Given the description of an element on the screen output the (x, y) to click on. 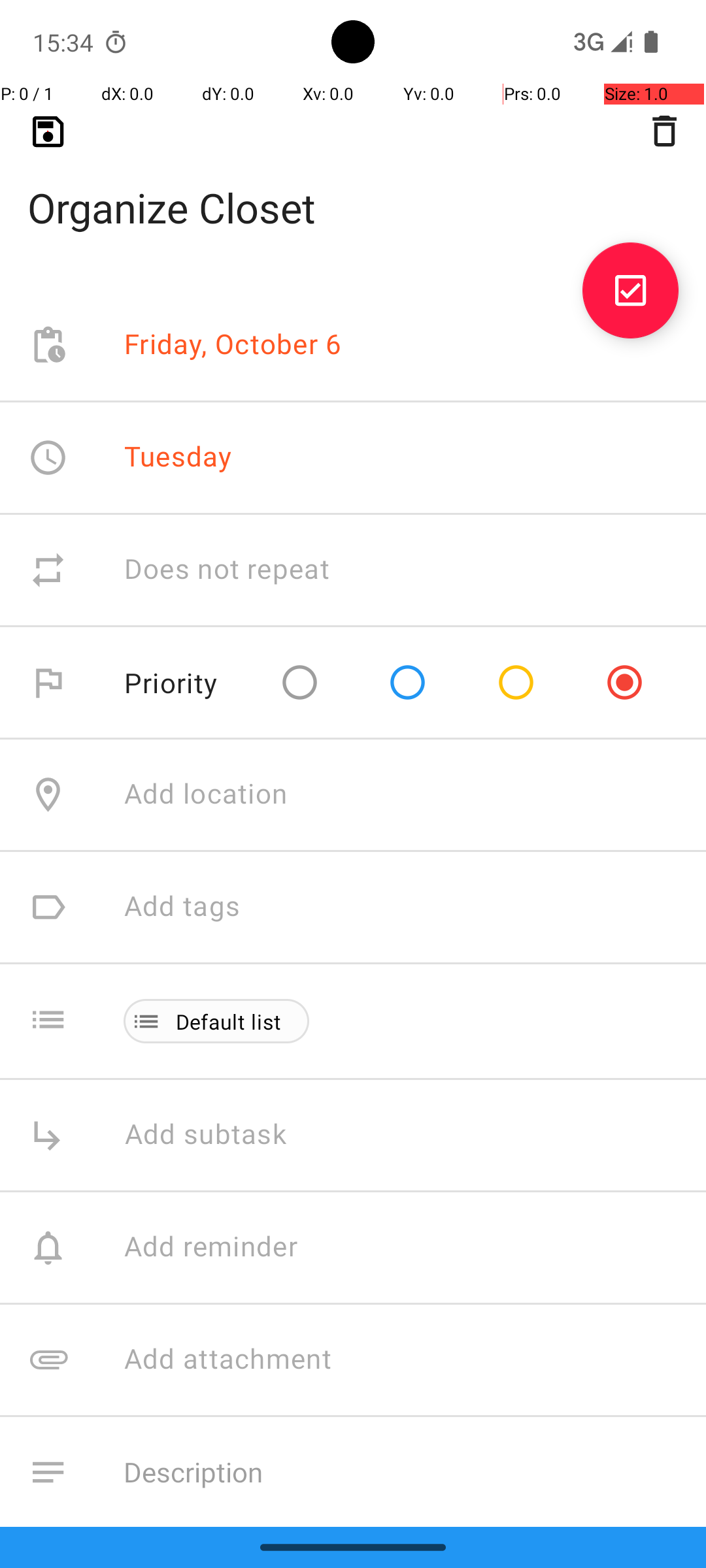
Friday, October 6 Element type: android.widget.TextView (232, 344)
